Given the description of an element on the screen output the (x, y) to click on. 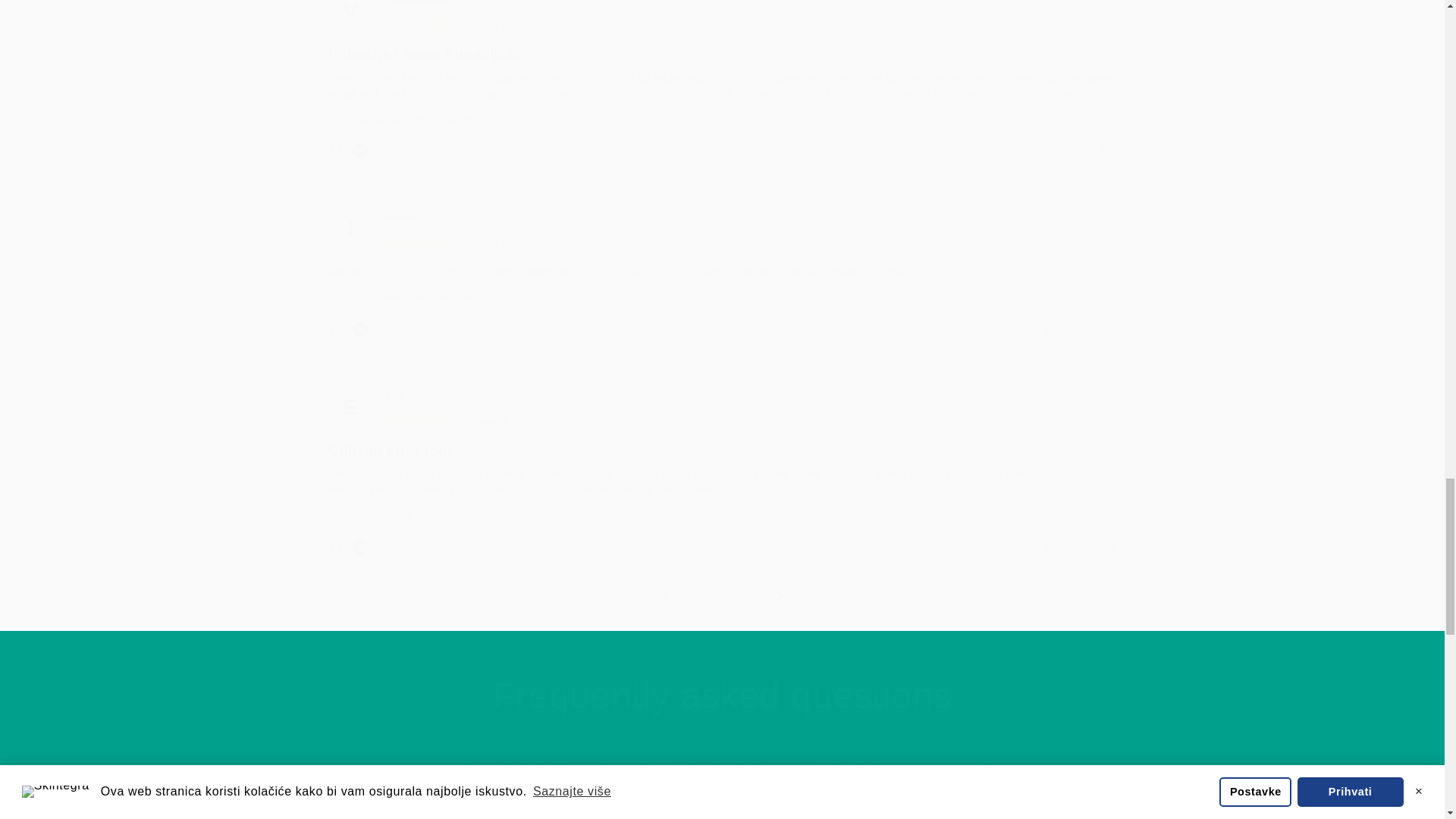
Frequently asked questions (721, 696)
